Given the description of an element on the screen output the (x, y) to click on. 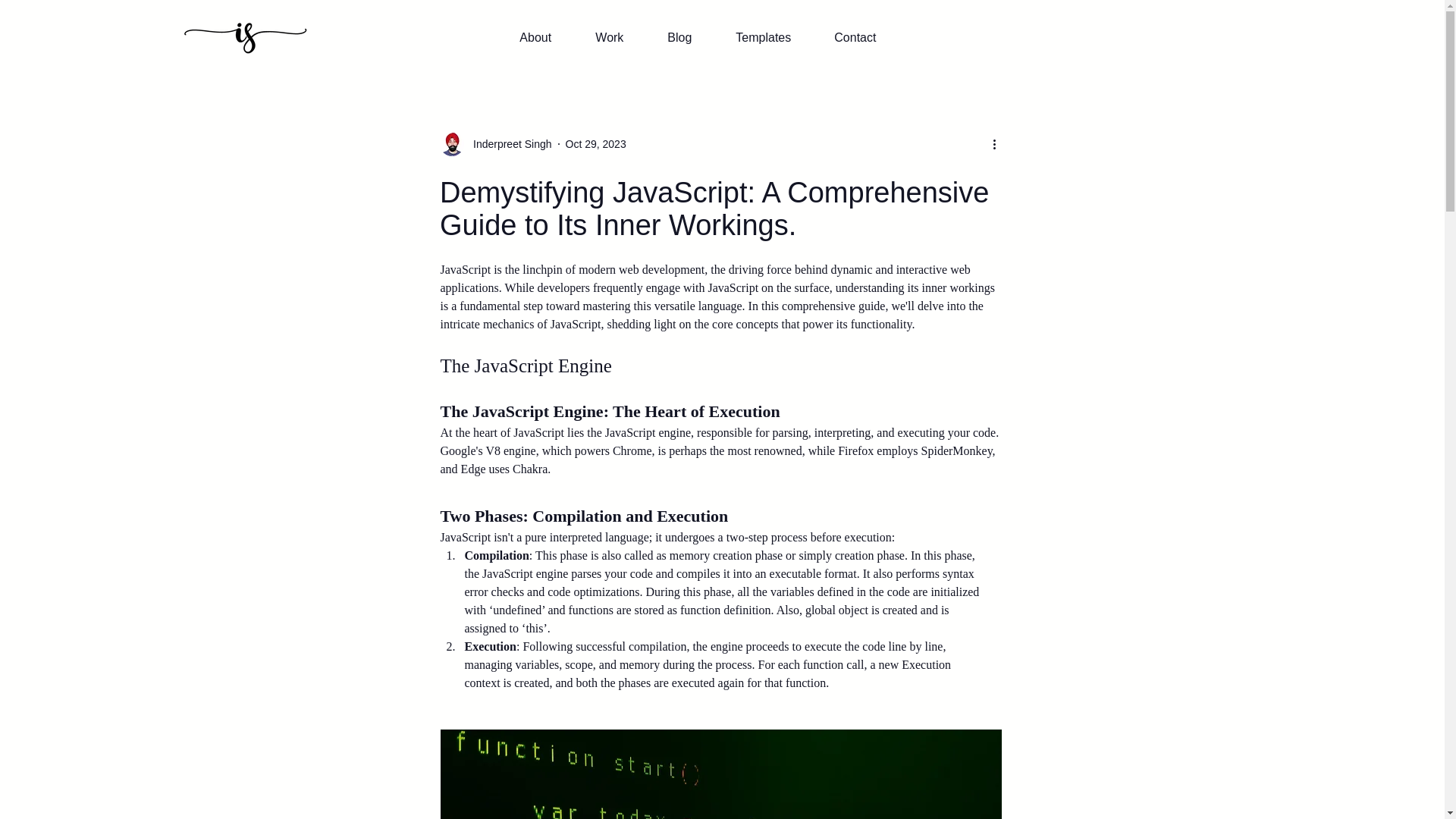
Oct 29, 2023 (596, 143)
Work (619, 37)
Contact (864, 37)
About (545, 37)
Inderpreet Singh (507, 144)
Templates (772, 37)
Blog (689, 37)
Group 2.png (244, 38)
